Given the description of an element on the screen output the (x, y) to click on. 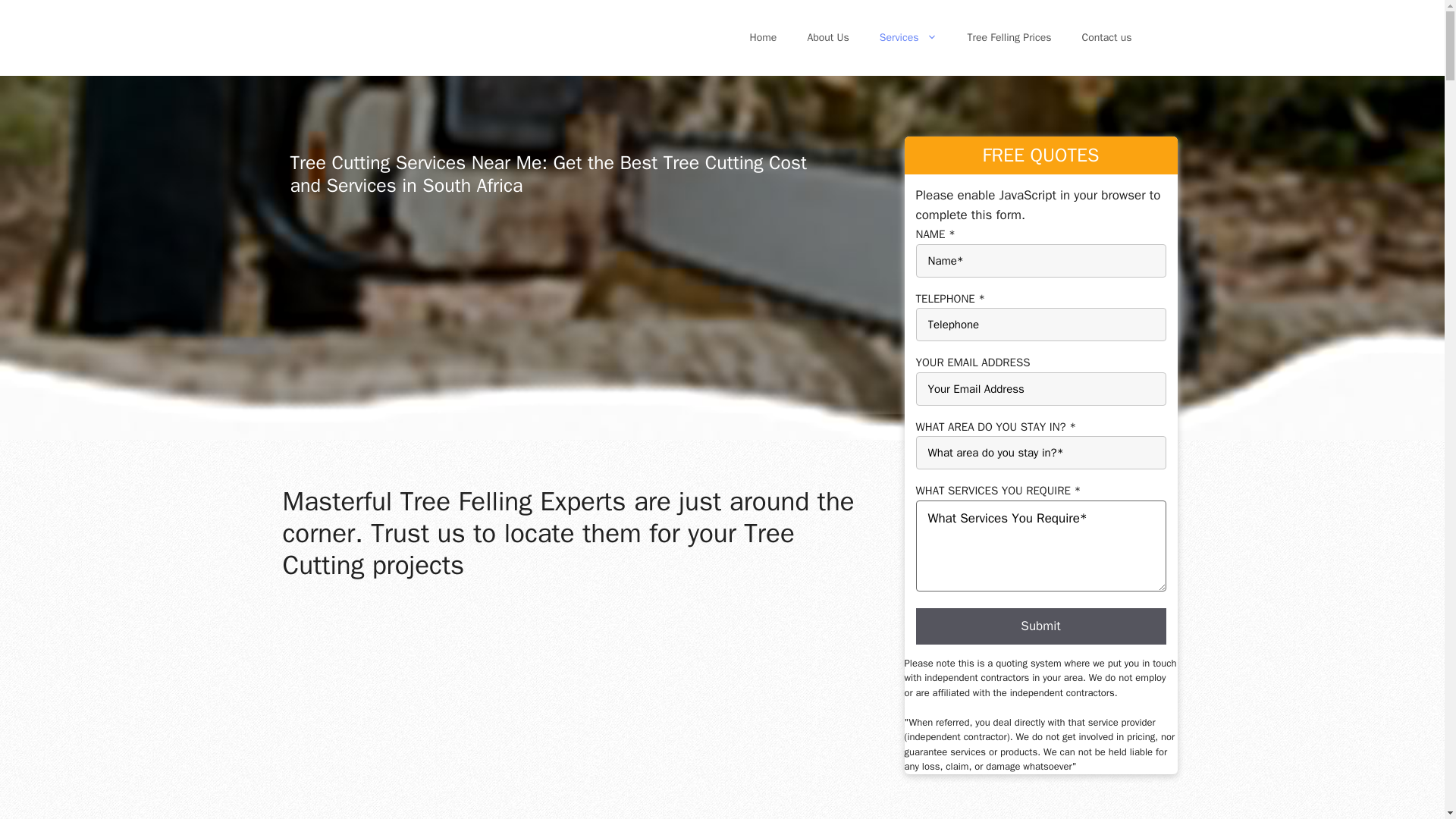
Contact us (1107, 37)
Submit (1040, 626)
Home (763, 37)
Tree Felling Prices (1009, 37)
Services (908, 37)
About Us (827, 37)
